Given the description of an element on the screen output the (x, y) to click on. 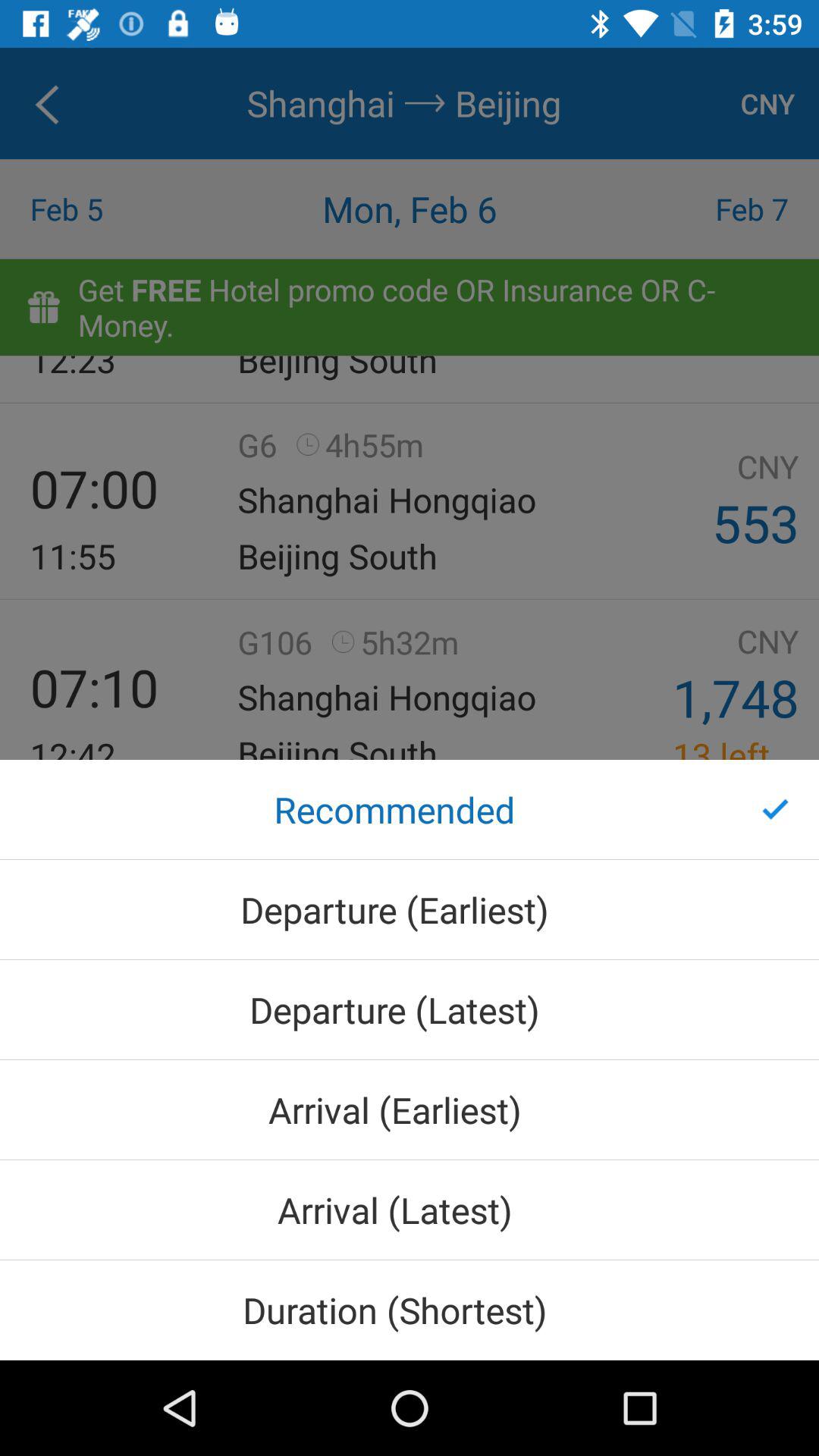
swipe until duration (shortest) (409, 1309)
